Given the description of an element on the screen output the (x, y) to click on. 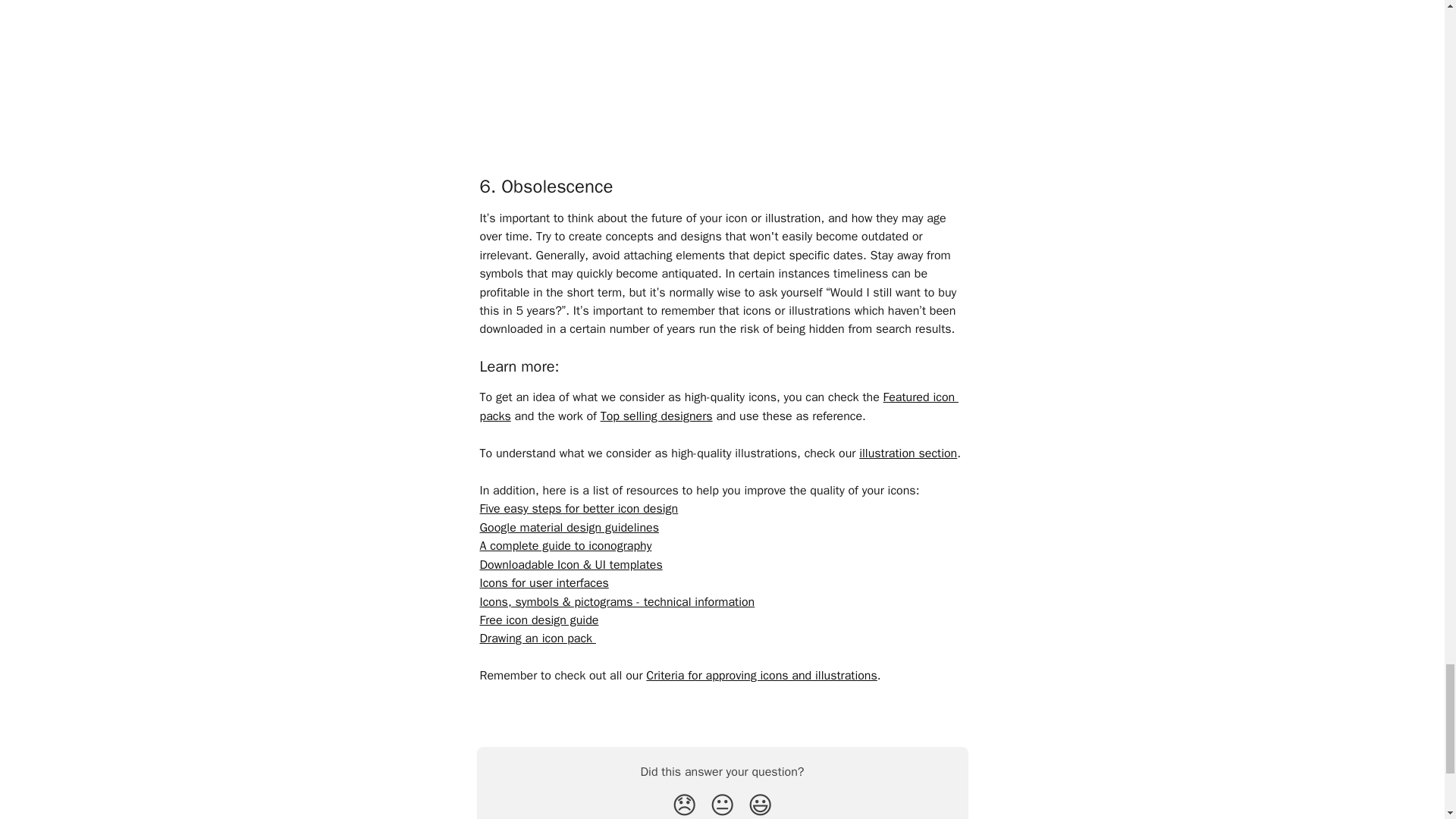
Featured icon packs (718, 406)
Icons for user interfaces (543, 582)
A complete guide to iconography (564, 545)
Google material design guidelines (568, 527)
Five easy steps for better icon design (578, 508)
illustration section (907, 453)
Drawing an icon pack (537, 638)
Free icon design guide (538, 620)
Criteria for approving icons and illustrations (761, 675)
Top selling designers (656, 416)
